Given the description of an element on the screen output the (x, y) to click on. 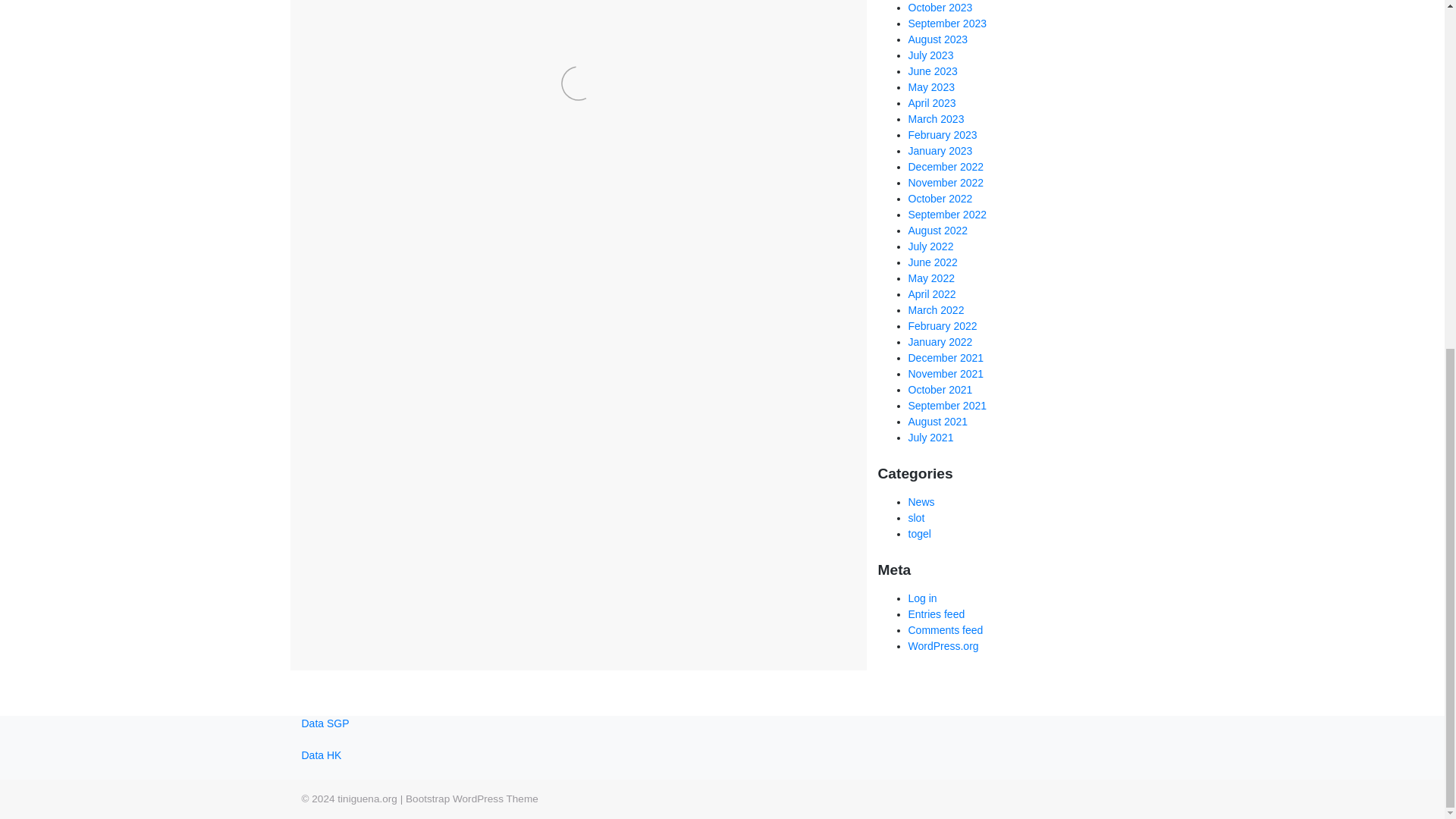
slot demo pragmatic play (461, 515)
slot demo gratis pragmatic (573, 488)
slot akun demo (570, 470)
slot demo mirip asli (646, 497)
demo slot bonanza (764, 424)
slot demo pragmatic (566, 506)
akun demo slot pragmatic play (754, 406)
akun slot demo (342, 424)
slot pragmatic demo (686, 515)
pragmatic slot demo (758, 461)
demo slot pragmatic rupiah (458, 461)
slot demo gratis pragmatic play no deposit (475, 497)
akun demo slot pragmatic (596, 406)
slot demo gacor (470, 479)
main slot demo (579, 461)
